Given the description of an element on the screen output the (x, y) to click on. 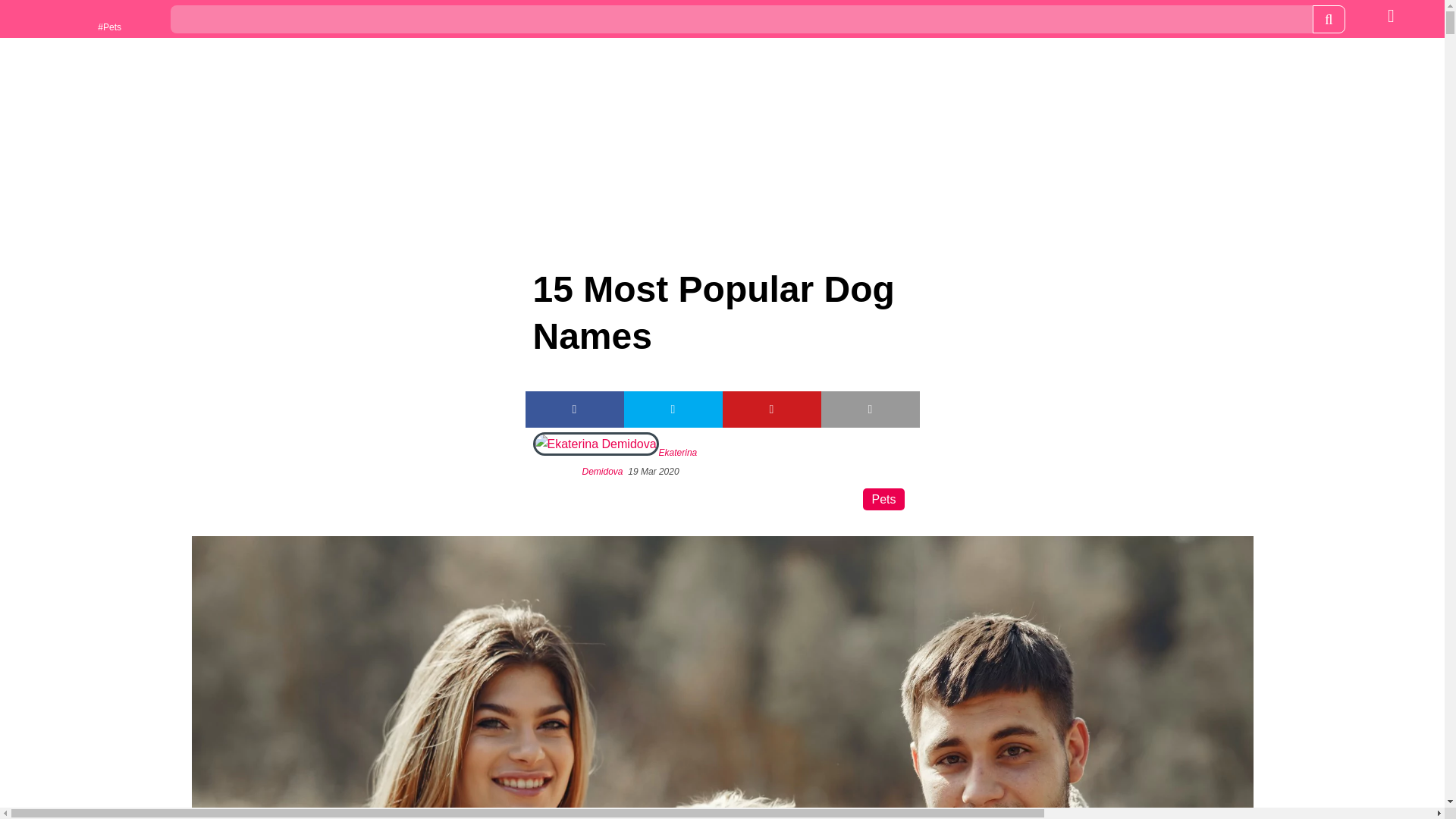
Pets Amerikanki (63, 19)
Pets (883, 499)
Pets (63, 19)
Ekaterina Demidova (639, 461)
